Given the description of an element on the screen output the (x, y) to click on. 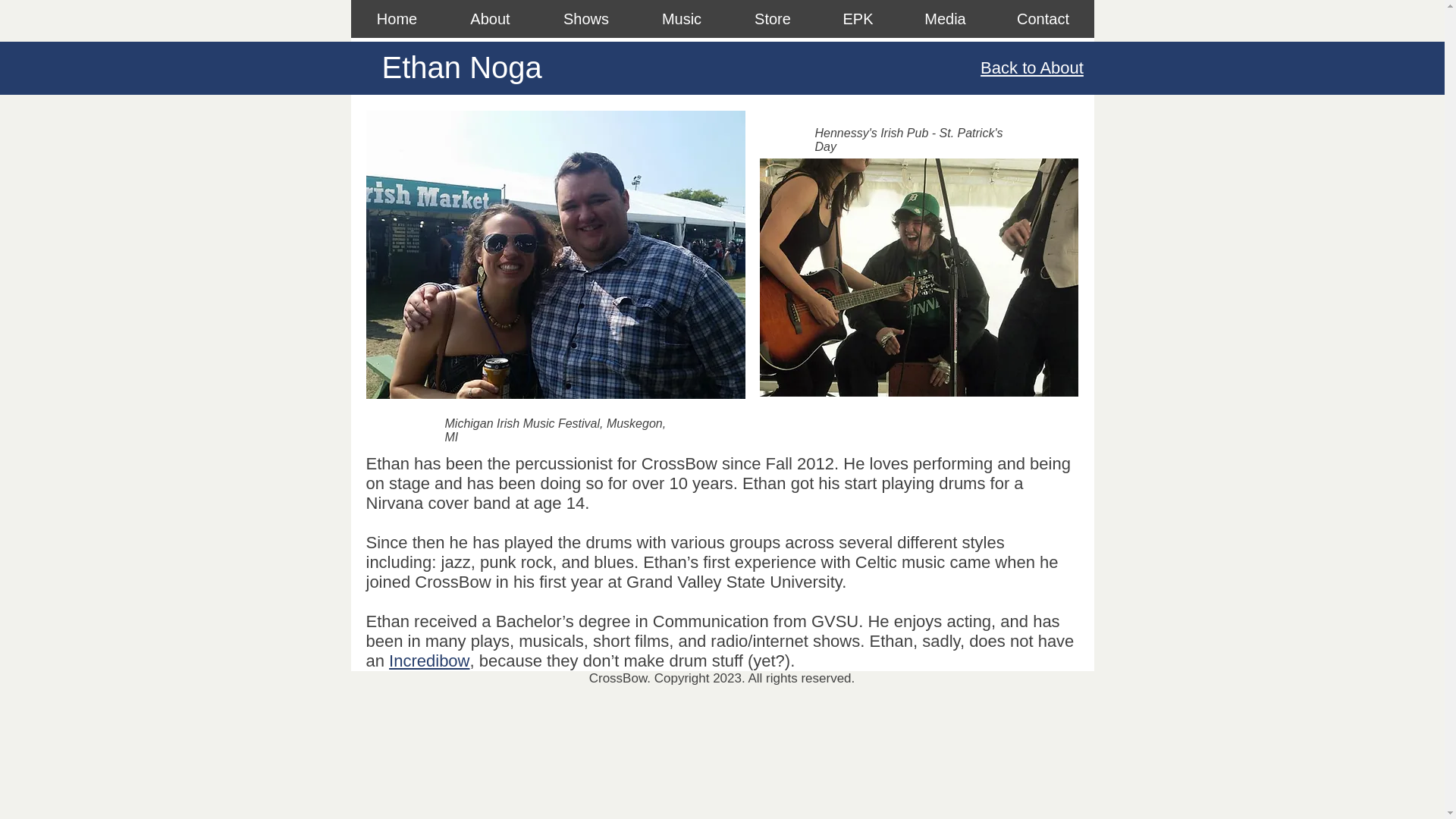
Media (944, 18)
Contact (1042, 18)
Home (396, 18)
Back to About (1031, 67)
EPK (857, 18)
Music (681, 18)
Store (772, 18)
Shows (585, 18)
Incredibow (428, 660)
About (488, 18)
